Given the description of an element on the screen output the (x, y) to click on. 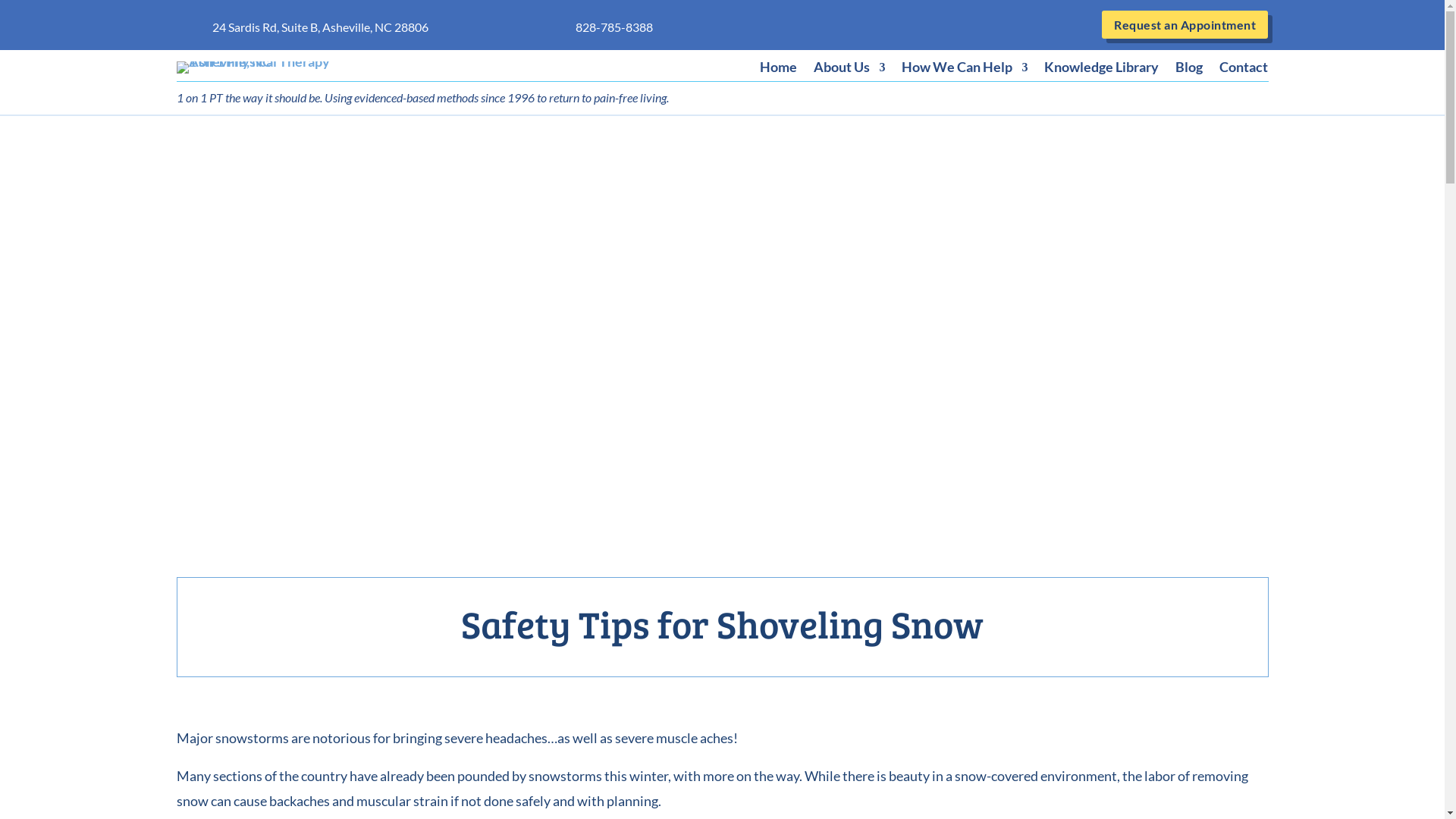
Home Element type: text (778, 70)
How We Can Help Element type: text (964, 70)
Blog Element type: text (1188, 70)
Knowledge Library Element type: text (1101, 70)
About Us Element type: text (848, 70)
1 on 1 Physical Therapy Asheville, NC Element type: hover (270, 67)
Request an Appointment Element type: text (1184, 24)
Contact Element type: text (1243, 70)
